Given the description of an element on the screen output the (x, y) to click on. 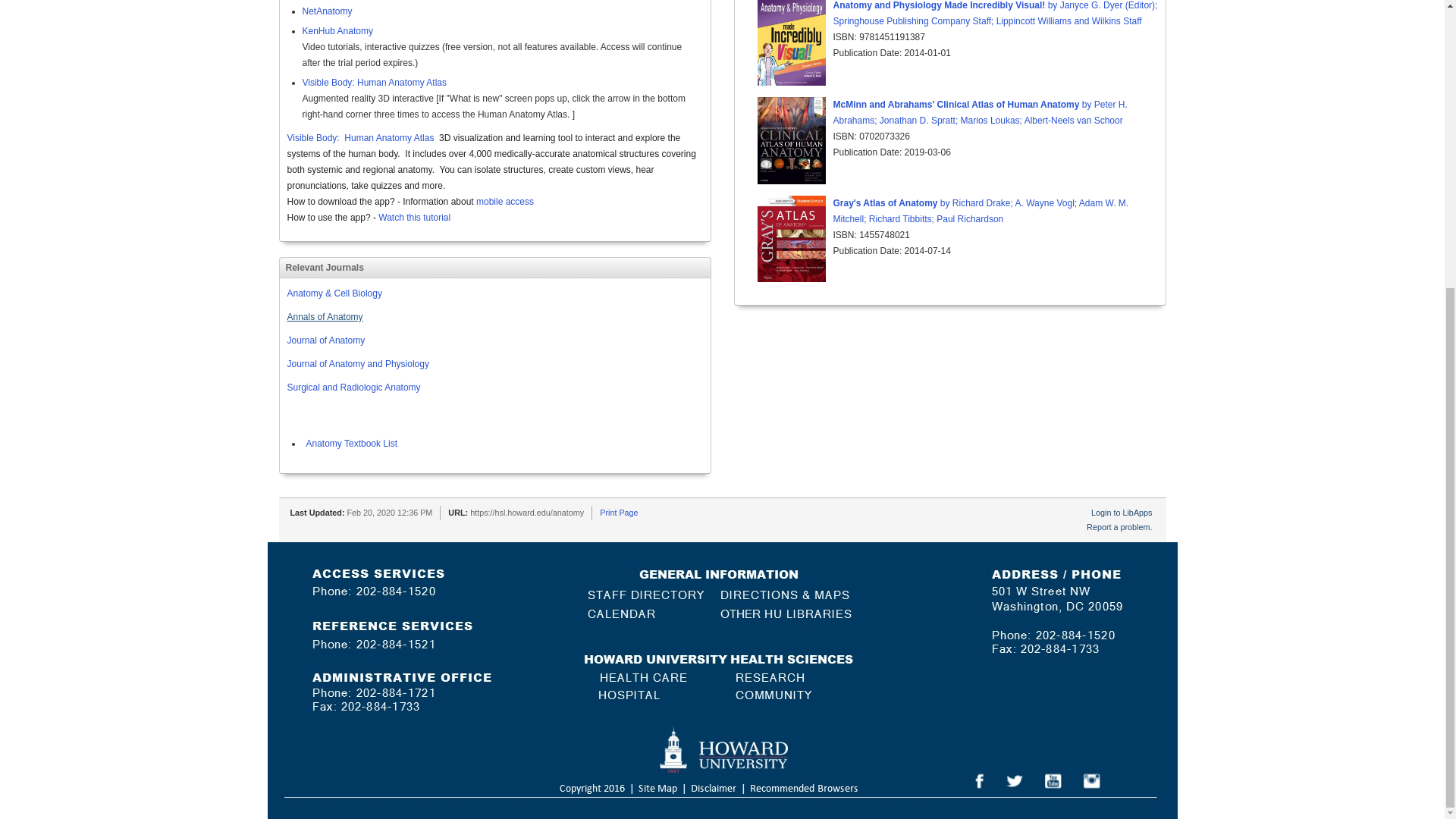
Report a problem. (1118, 526)
Journal of Anatomy and Physiology (357, 363)
NetAnatomy (326, 10)
KenHub Anatomy (336, 30)
Surgical and Radiologic Anatomy (353, 387)
Visible Body:  Human Anatomy Atlas (359, 137)
Anatomy Textbook List (349, 443)
Watch this tutorial (413, 217)
Print Page (618, 511)
Visible Body: Human Anatomy Atlas (373, 81)
Annals of Anatomy (324, 317)
Login to LibApps (1120, 511)
Journal of Anatomy (325, 339)
